Given the description of an element on the screen output the (x, y) to click on. 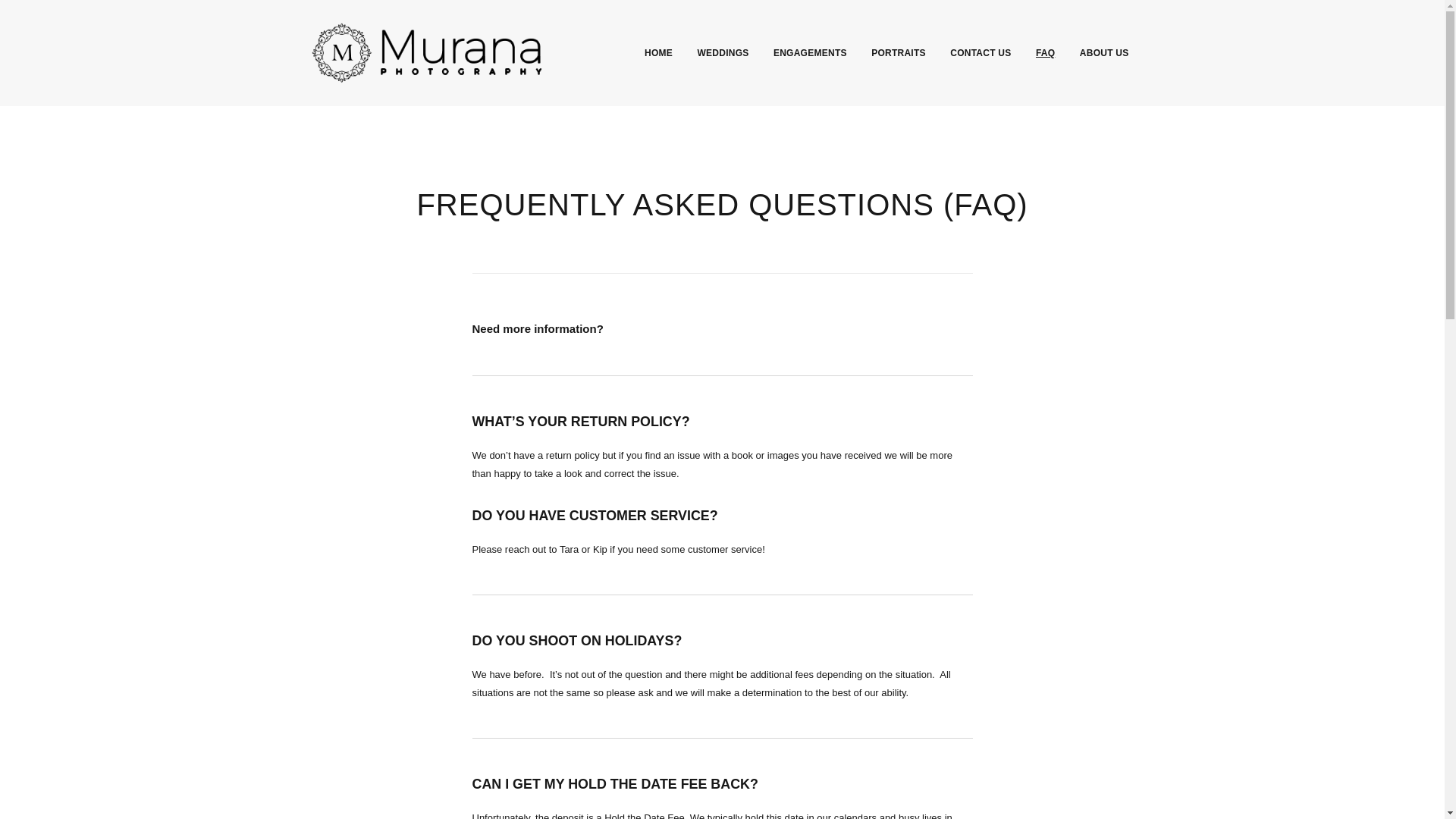
WEDDINGS (723, 52)
HOME (658, 52)
PORTRAITS (898, 52)
CONTACT US (980, 52)
ENGAGEMENTS (809, 52)
ABOUT US (1104, 52)
